Given the description of an element on the screen output the (x, y) to click on. 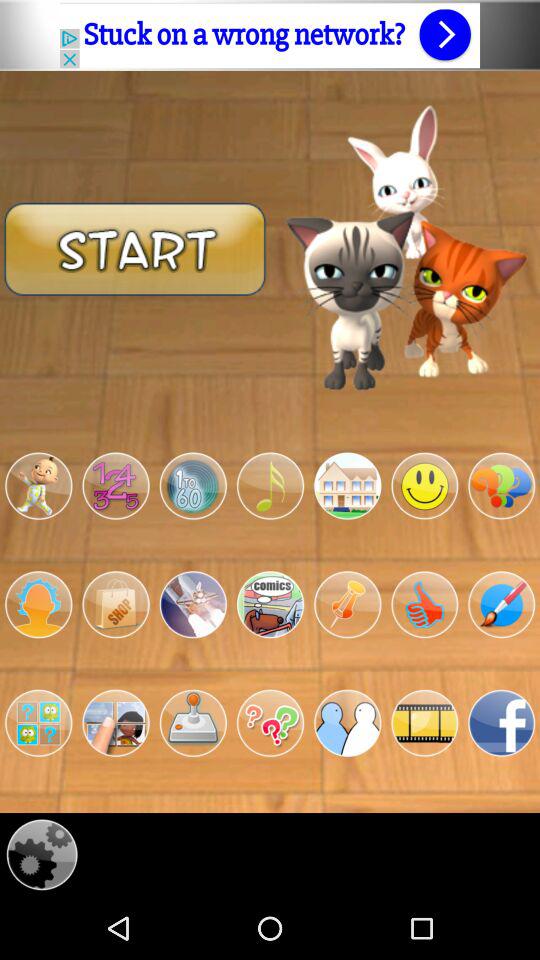
select an activity (347, 485)
